Given the description of an element on the screen output the (x, y) to click on. 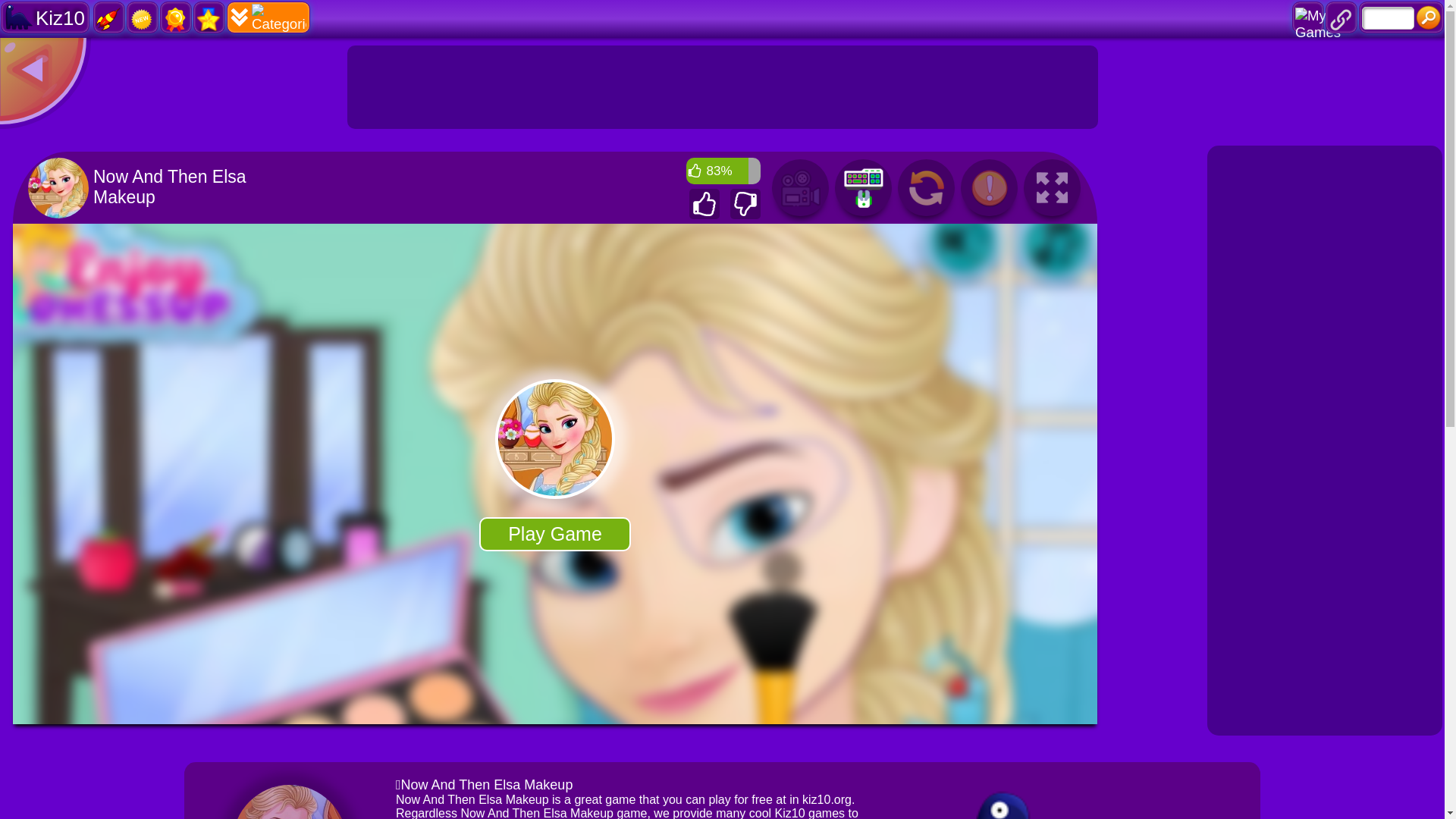
Play Game (554, 533)
Kiz10 (44, 17)
